Given the description of an element on the screen output the (x, y) to click on. 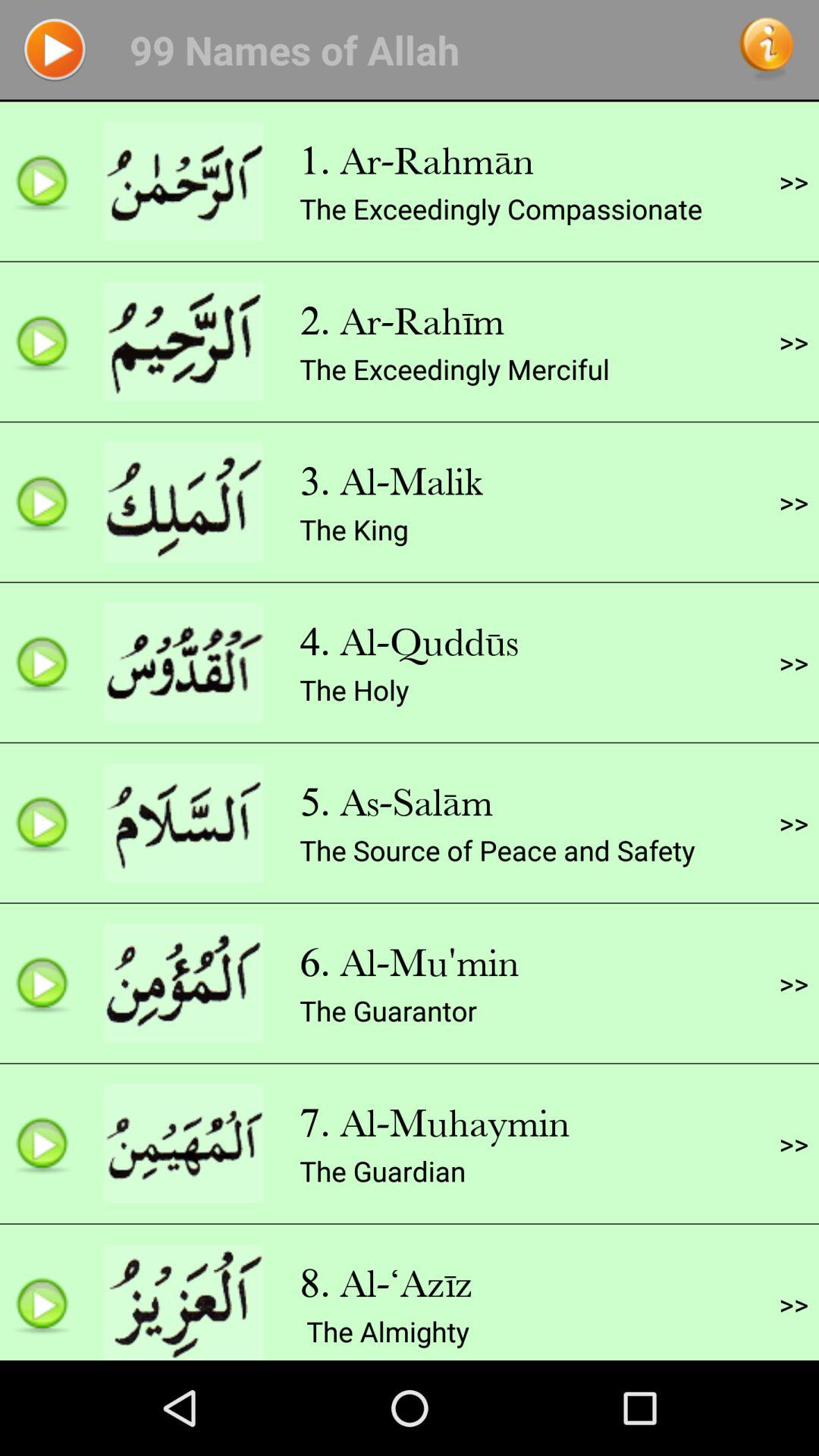
click the item below the 7. al-muhaymin icon (382, 1170)
